Given the description of an element on the screen output the (x, y) to click on. 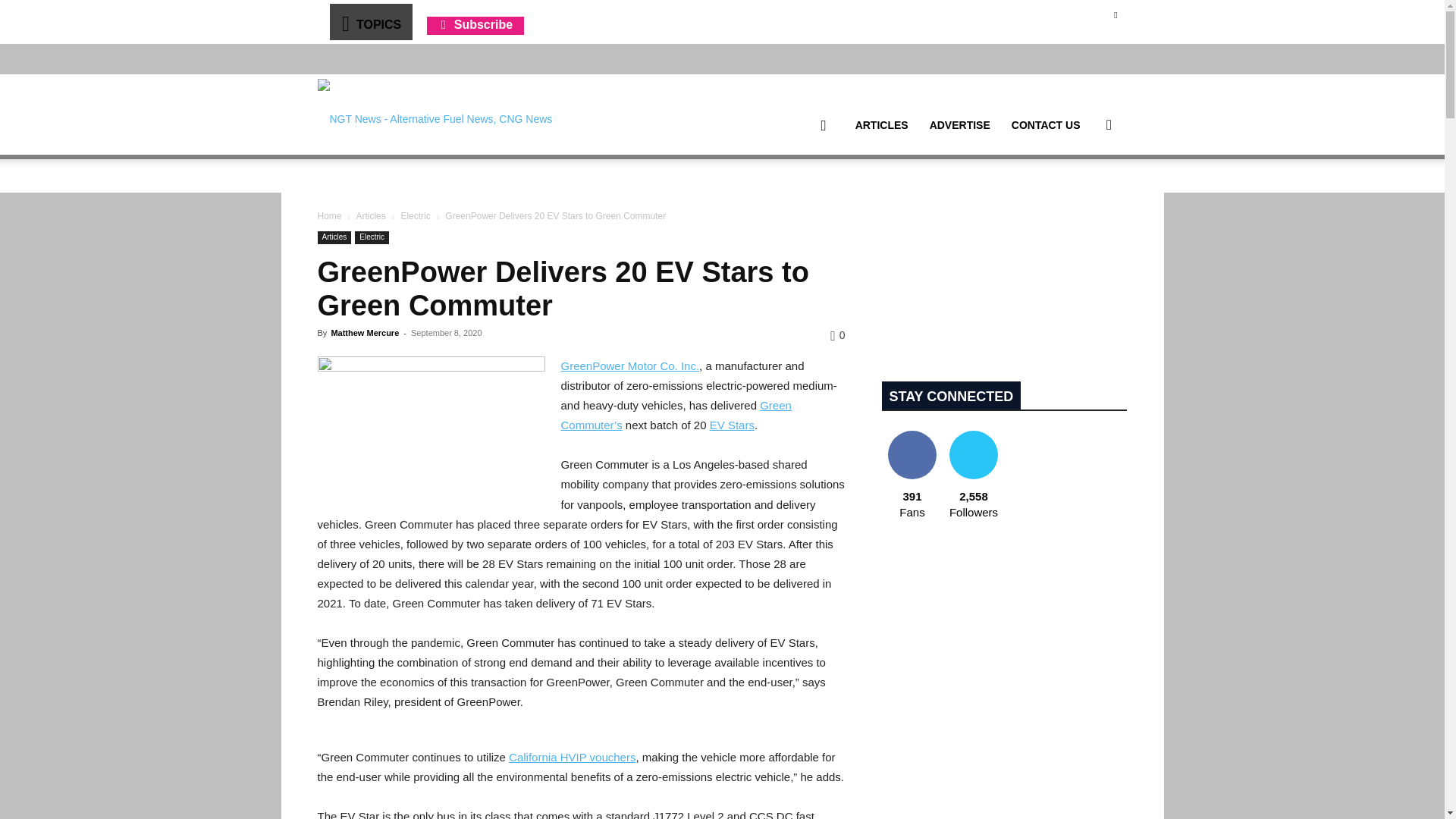
ARTICLES (881, 124)
Alternative Fuel News, CNG News (434, 114)
Subscribe (475, 24)
TOPICS (370, 22)
Search (1085, 197)
NGT News (434, 114)
Twitter (1114, 14)
